Given the description of an element on the screen output the (x, y) to click on. 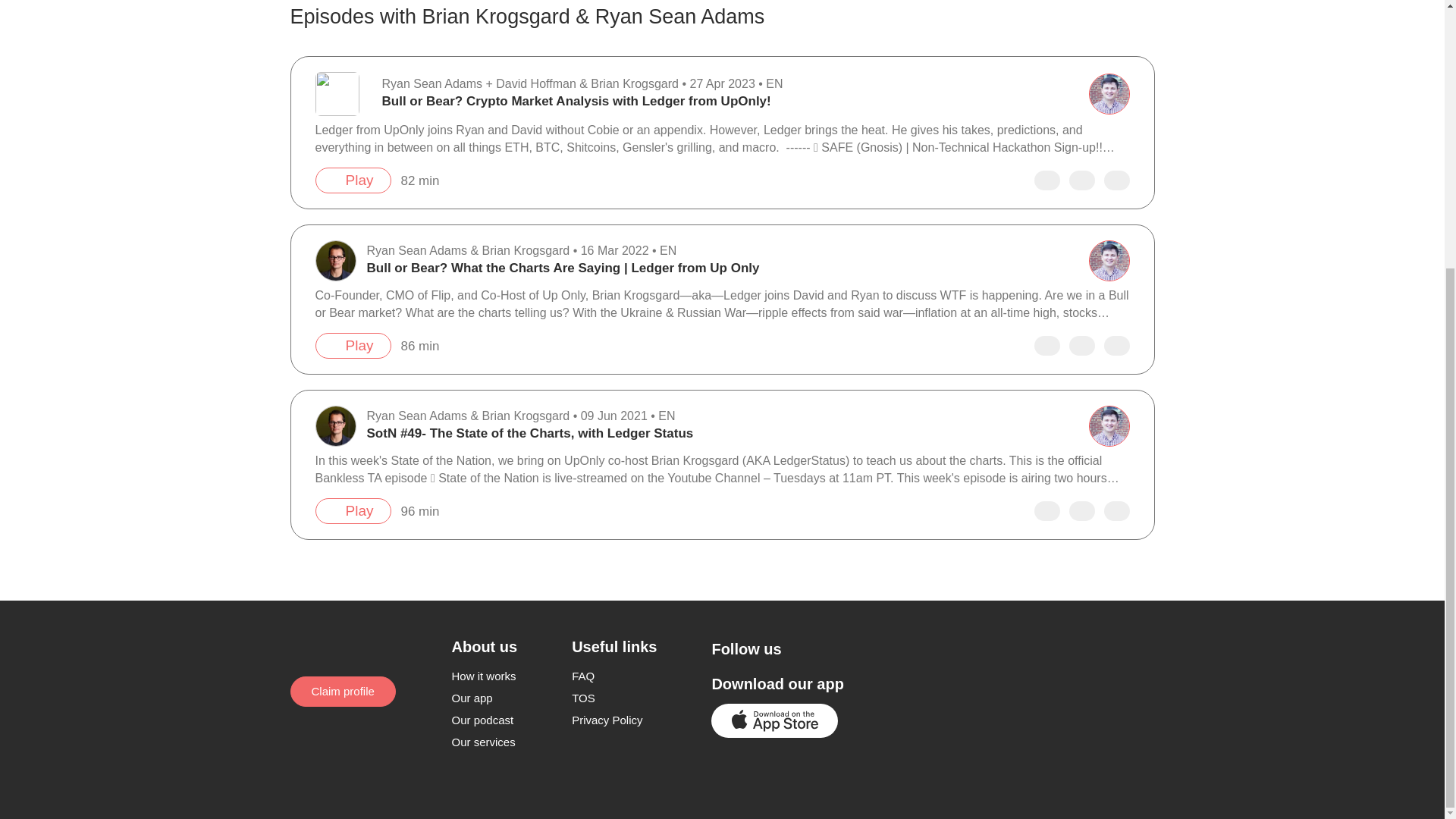
Play (353, 180)
